Given the description of an element on the screen output the (x, y) to click on. 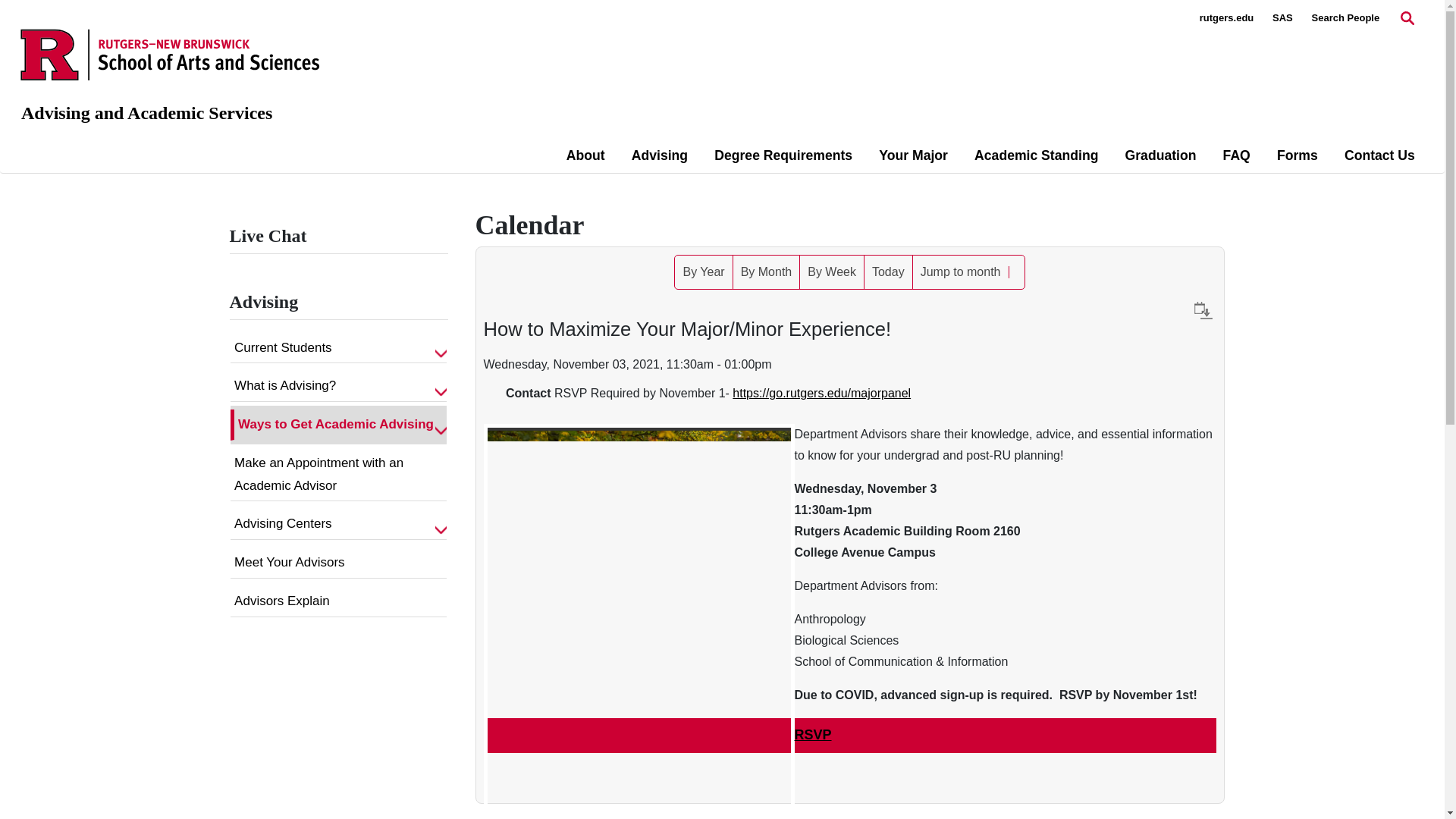
Your Major (913, 155)
rutgers.edu (1226, 17)
Search (1016, 272)
By Week (831, 272)
About (585, 155)
By Year (703, 272)
Today (888, 272)
Jump to month (960, 272)
Advising and Academic Services (146, 112)
Search People (1345, 17)
